Given the description of an element on the screen output the (x, y) to click on. 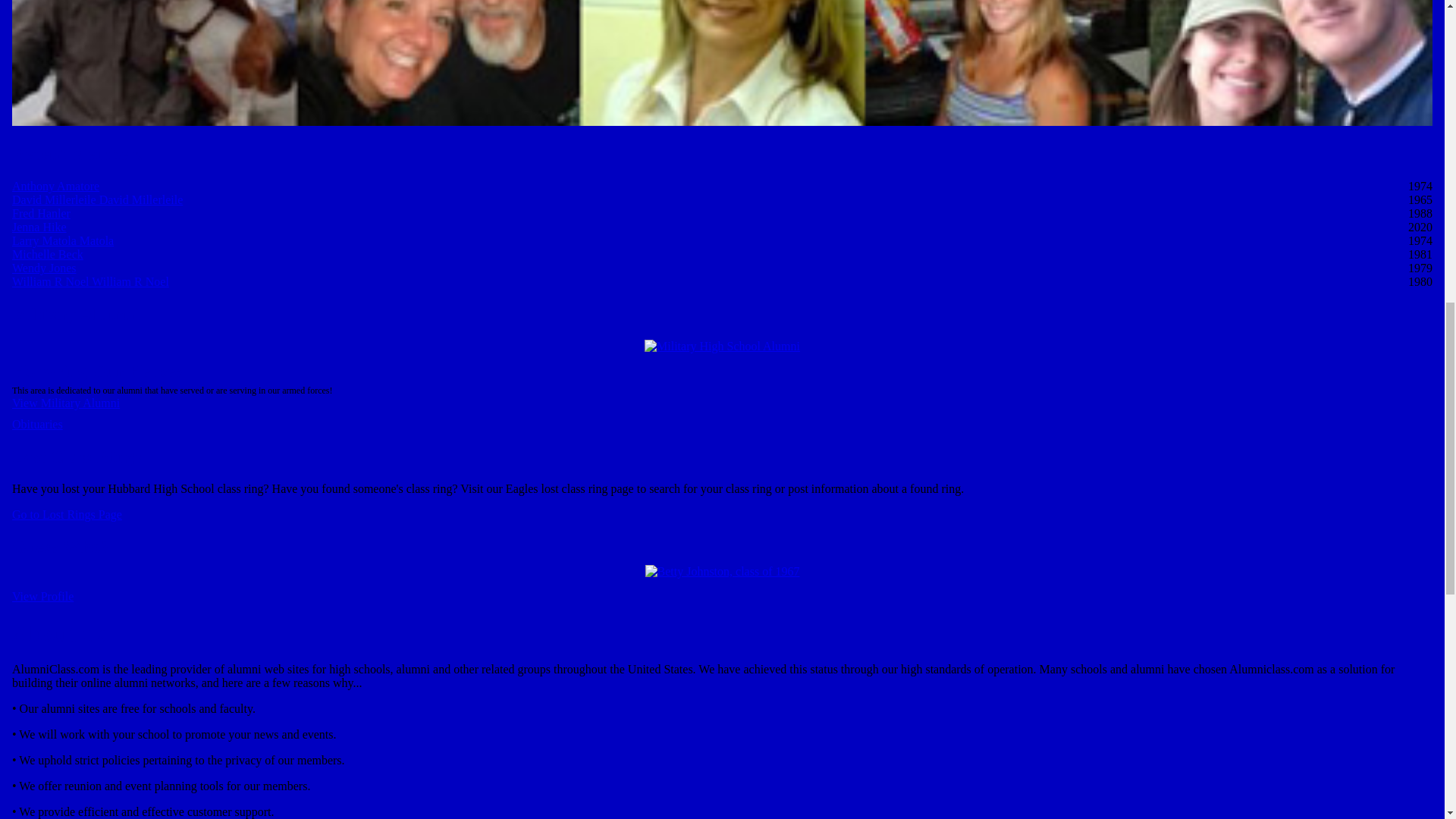
Guess Who? (60, 546)
View Profile (42, 595)
Go to Lost Rings Page (66, 513)
William R Noel William R Noel (89, 281)
Larry Matola Matola (62, 240)
Anthony Amatore (55, 185)
View Military Alumni (65, 402)
David Millerleile David Millerleile (97, 199)
Michelle Beck (46, 254)
Military Alumni (74, 313)
Fred Hanler (40, 213)
Obituaries (36, 423)
Wendy Jones (43, 267)
Jenna Hike (38, 226)
